Given the description of an element on the screen output the (x, y) to click on. 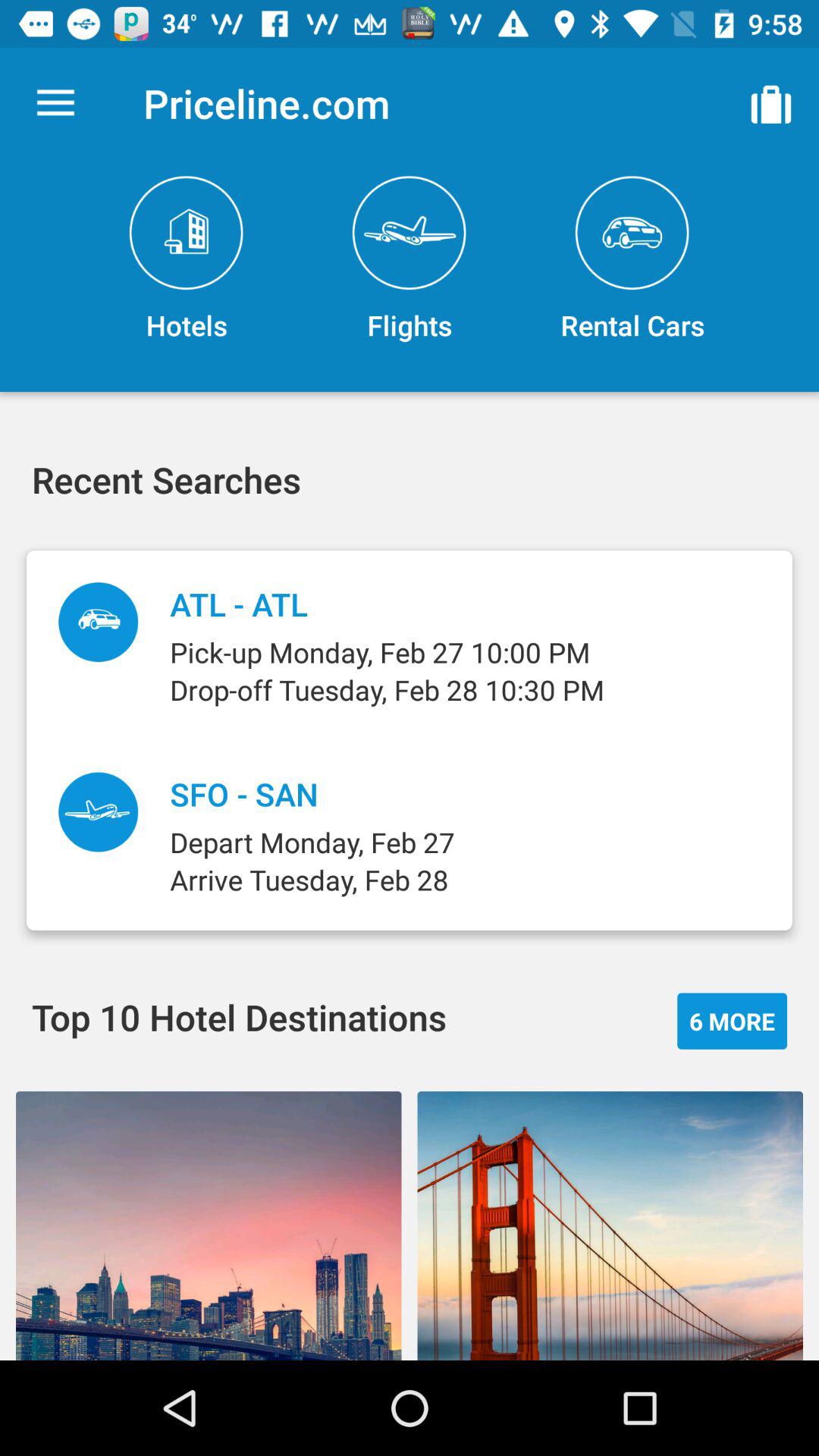
turn off icon above the hotels icon (55, 103)
